Given the description of an element on the screen output the (x, y) to click on. 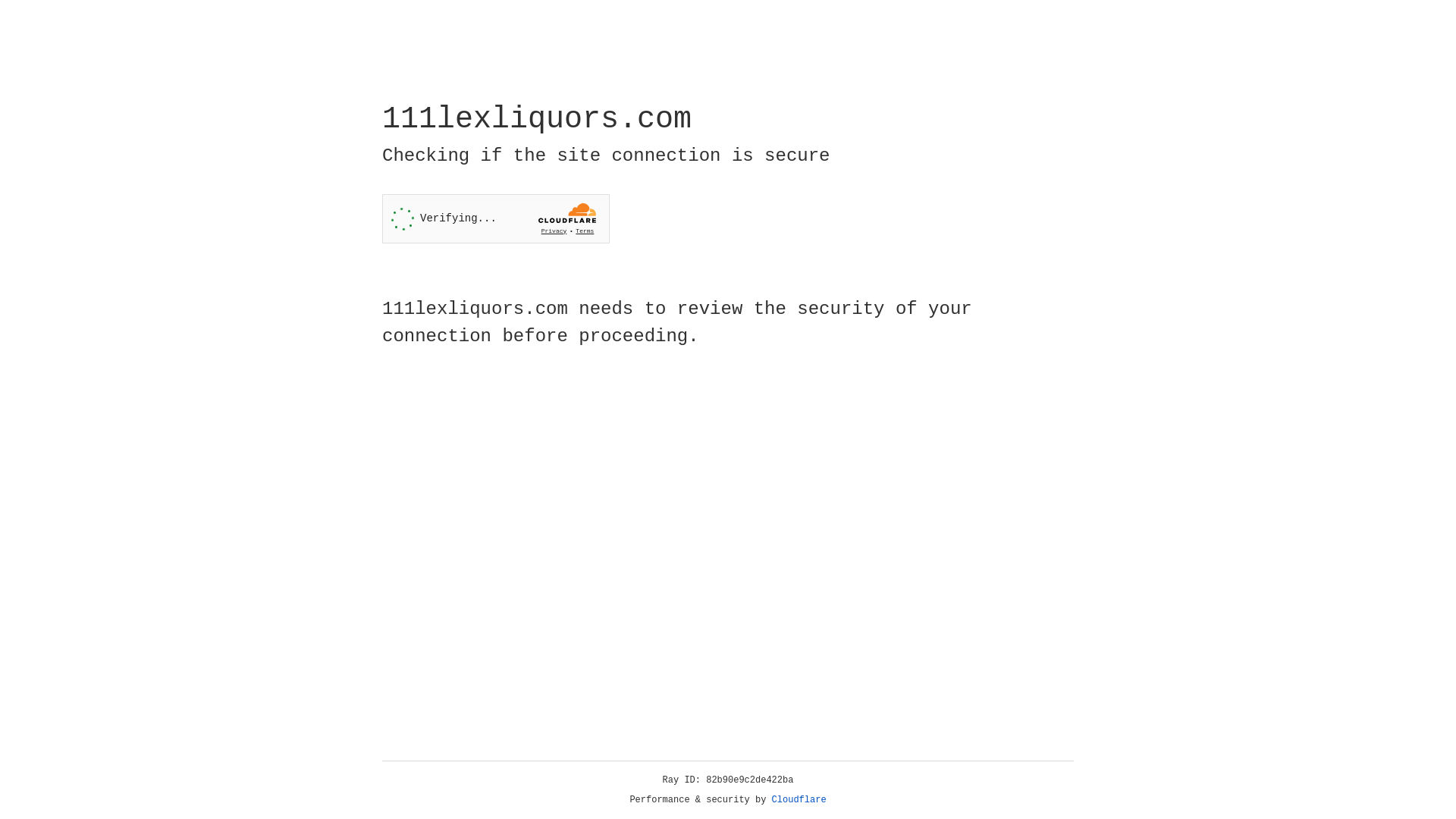
Widget containing a Cloudflare security challenge Element type: hover (495, 218)
Cloudflare Element type: text (798, 799)
